Given the description of an element on the screen output the (x, y) to click on. 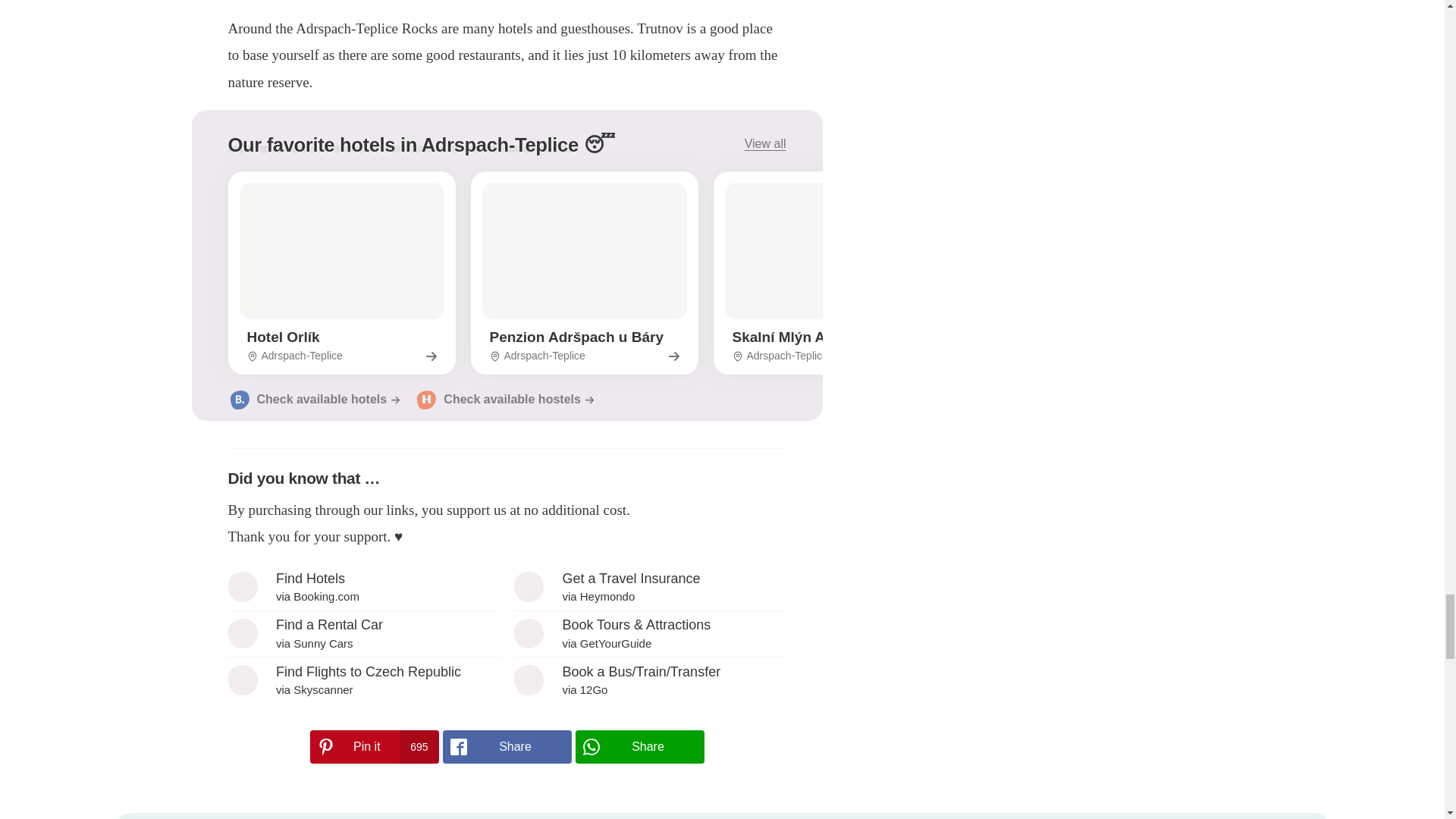
Check available hostels (649, 586)
Get a Travel Insurance (504, 399)
See all Czech Republic guides (649, 586)
View all (507, 746)
Check available hotels (363, 586)
